Given the description of an element on the screen output the (x, y) to click on. 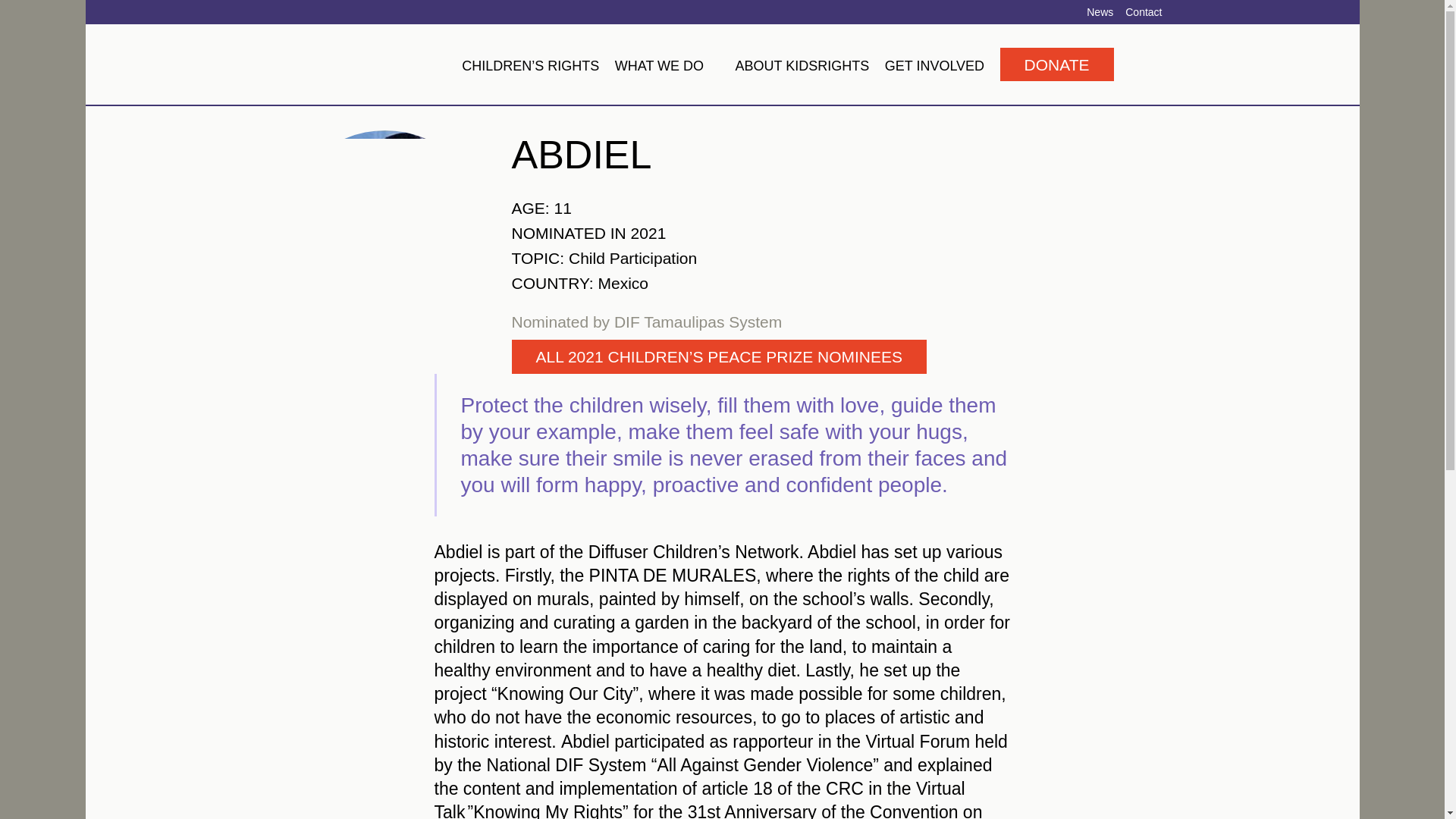
GET INVOLVED (934, 65)
News (1099, 11)
Contact (1143, 11)
WHAT WE DO (666, 65)
Search (1137, 64)
KidsRights Foundation (366, 63)
ABOUT KIDSRIGHTS (802, 65)
DONATE (1056, 63)
